Given the description of an element on the screen output the (x, y) to click on. 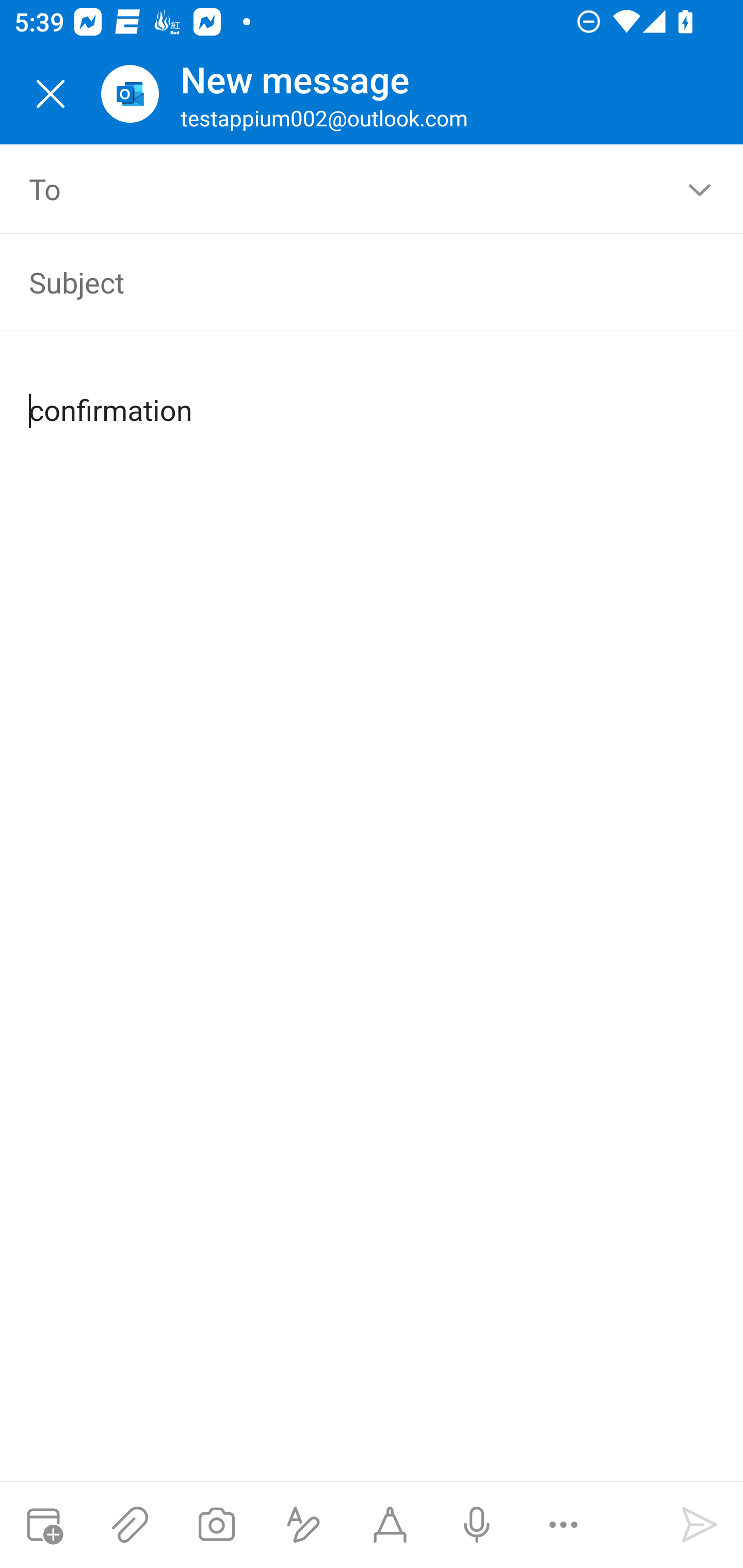
Close (50, 93)
Subject (342, 281)

confirmation (372, 394)
Attach meeting (43, 1524)
Attach files (129, 1524)
Take a photo (216, 1524)
Show formatting options (303, 1524)
Start Ink compose (389, 1524)
Dictation (476, 1524)
More options (563, 1524)
Send (699, 1524)
